Given the description of an element on the screen output the (x, y) to click on. 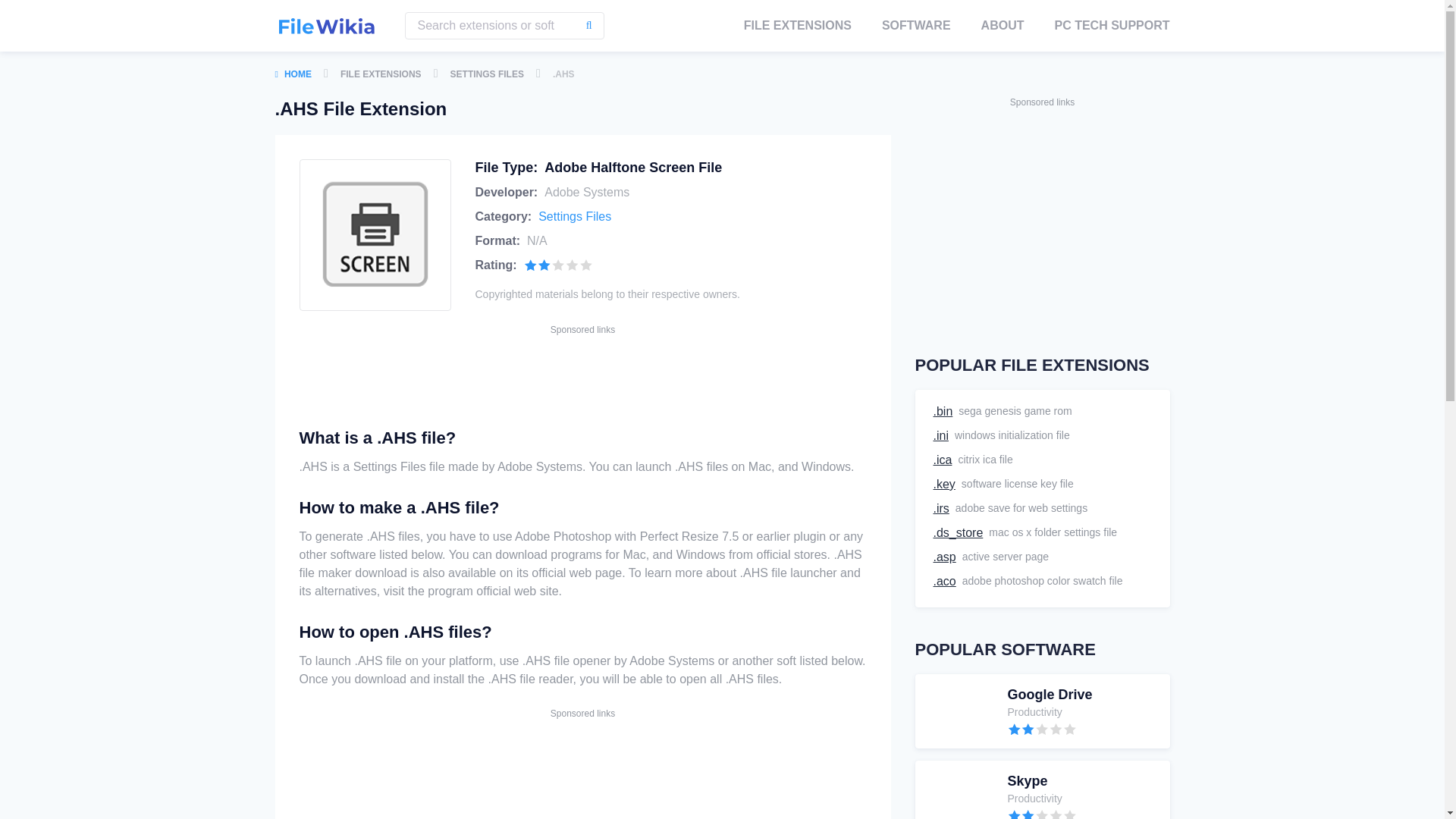
User rating 2.3 (1042, 728)
.bin (1041, 789)
ABOUT (942, 411)
Settings Files (1002, 25)
FILE EXTENSIONS (574, 215)
SOFTWARE (381, 73)
.asp (916, 25)
User rating 2.3 (944, 556)
Advertisement (559, 265)
Advertisement (582, 755)
SETTINGS FILES (1041, 216)
Advertisement (486, 73)
.key (582, 372)
.aco (944, 484)
